Given the description of an element on the screen output the (x, y) to click on. 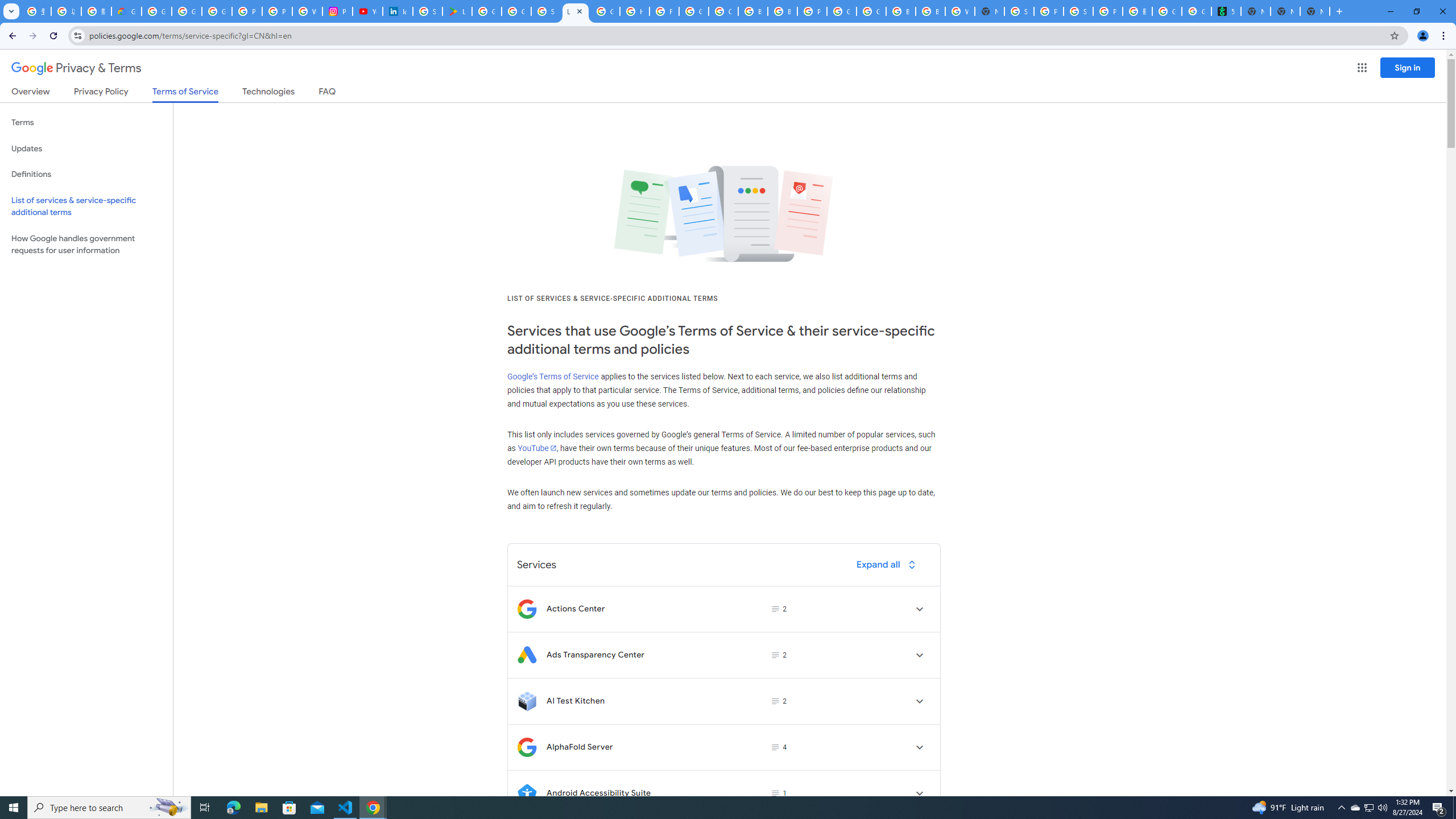
Privacy Help Center - Policies Help (277, 11)
Identity verification via Persona | LinkedIn Help (397, 11)
Privacy Policy (100, 93)
Browse Chrome as a guest - Computer - Google Chrome Help (930, 11)
New Tab (989, 11)
Browse Chrome as a guest - Computer - Google Chrome Help (753, 11)
Forward (32, 35)
